Given the description of an element on the screen output the (x, y) to click on. 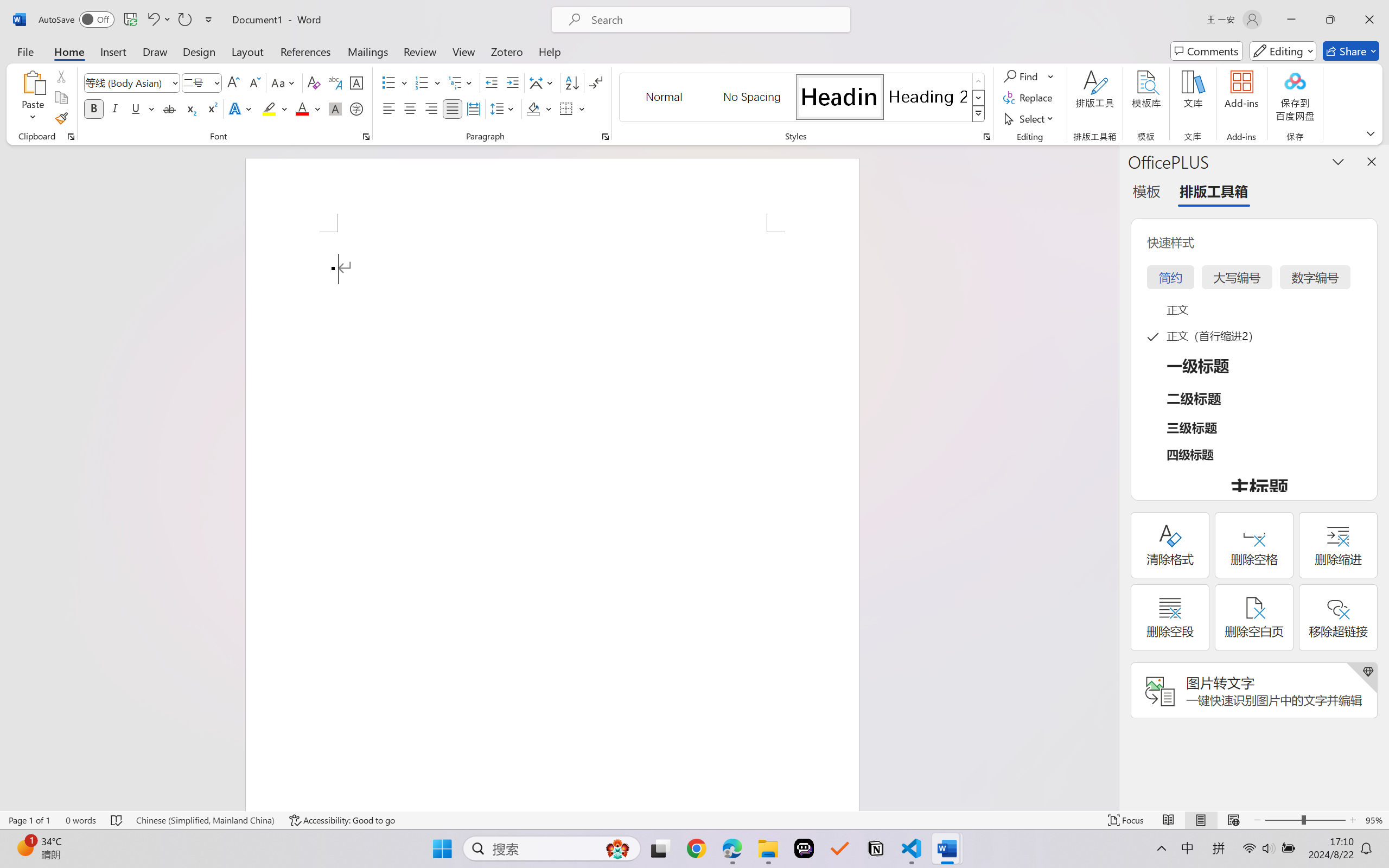
Class: MsoCommandBar (694, 819)
Undo Apply Quick Style (152, 19)
Repeat Style (184, 19)
